Given the description of an element on the screen output the (x, y) to click on. 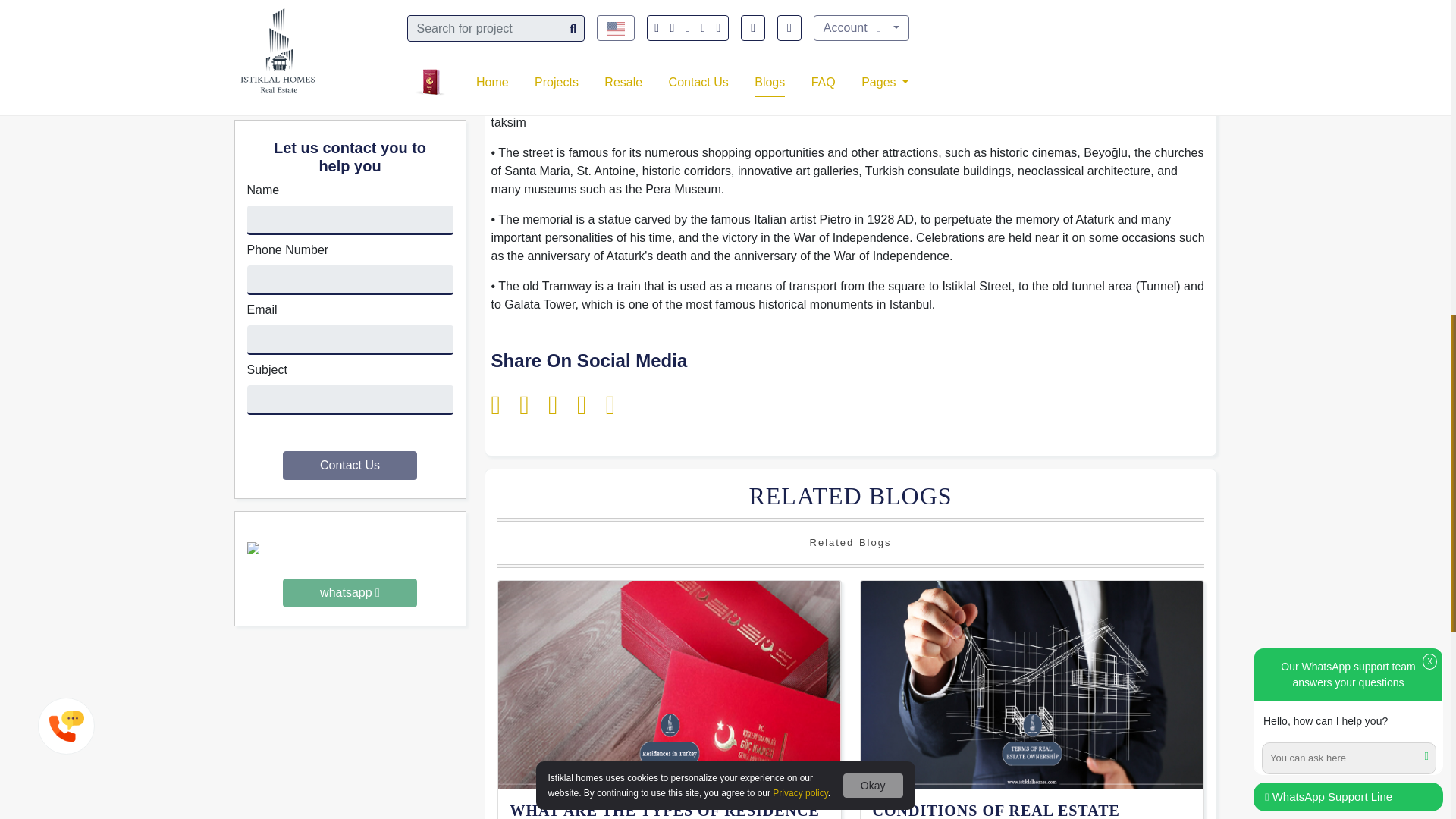
CONDITIONS OF REAL ESTATE OWNERSHIP IN TURKEY FOR... (1031, 810)
WHAT ARE THE TYPES OF RESIDENCE PERMITS IN TURKEY (668, 810)
